Given the description of an element on the screen output the (x, y) to click on. 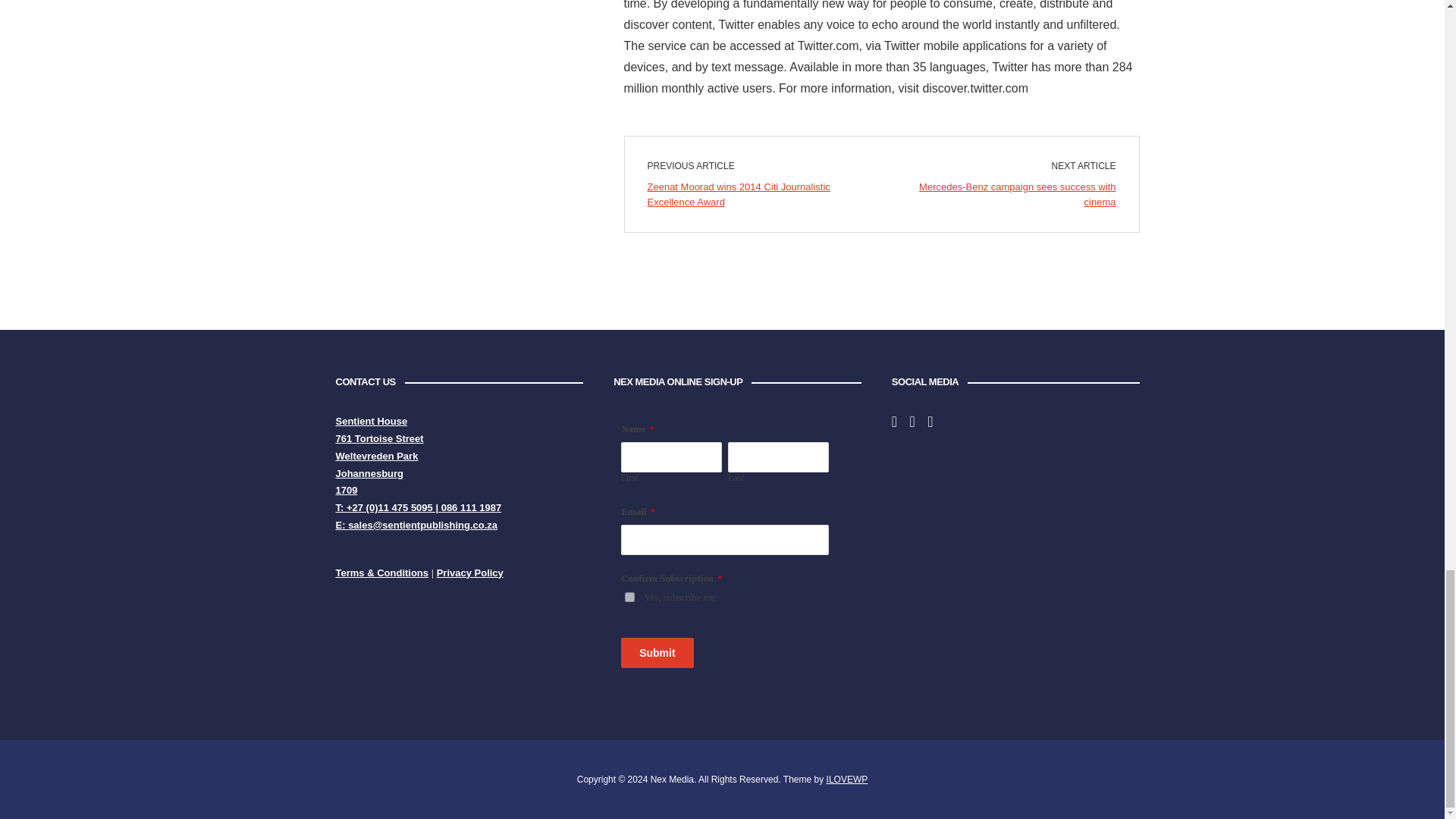
Mercedes-Benz campaign sees success with cinema (1016, 194)
Zeenat Moorad wins 2014 Citi Journalistic Excellence Award (738, 194)
Yes, subscribe me (629, 596)
